Given the description of an element on the screen output the (x, y) to click on. 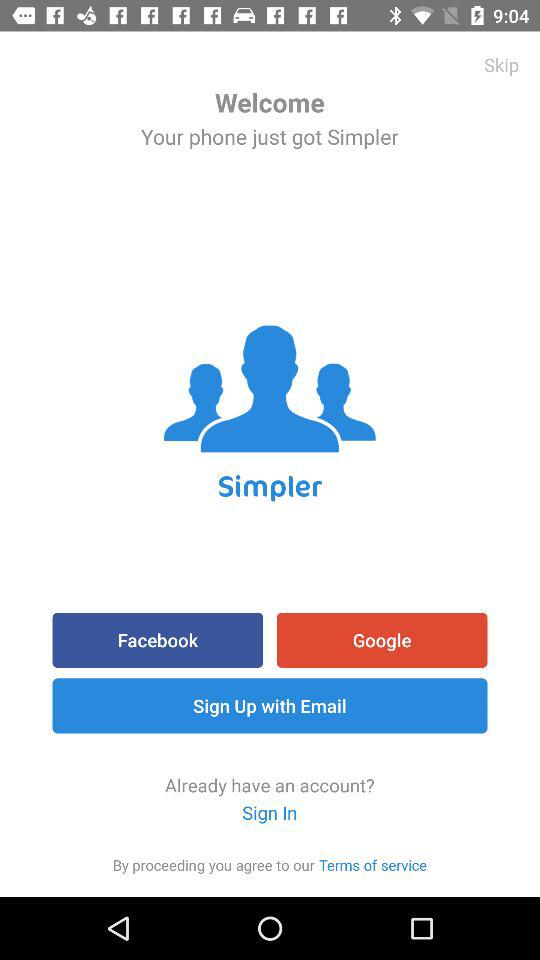
launch item next to google (157, 639)
